Given the description of an element on the screen output the (x, y) to click on. 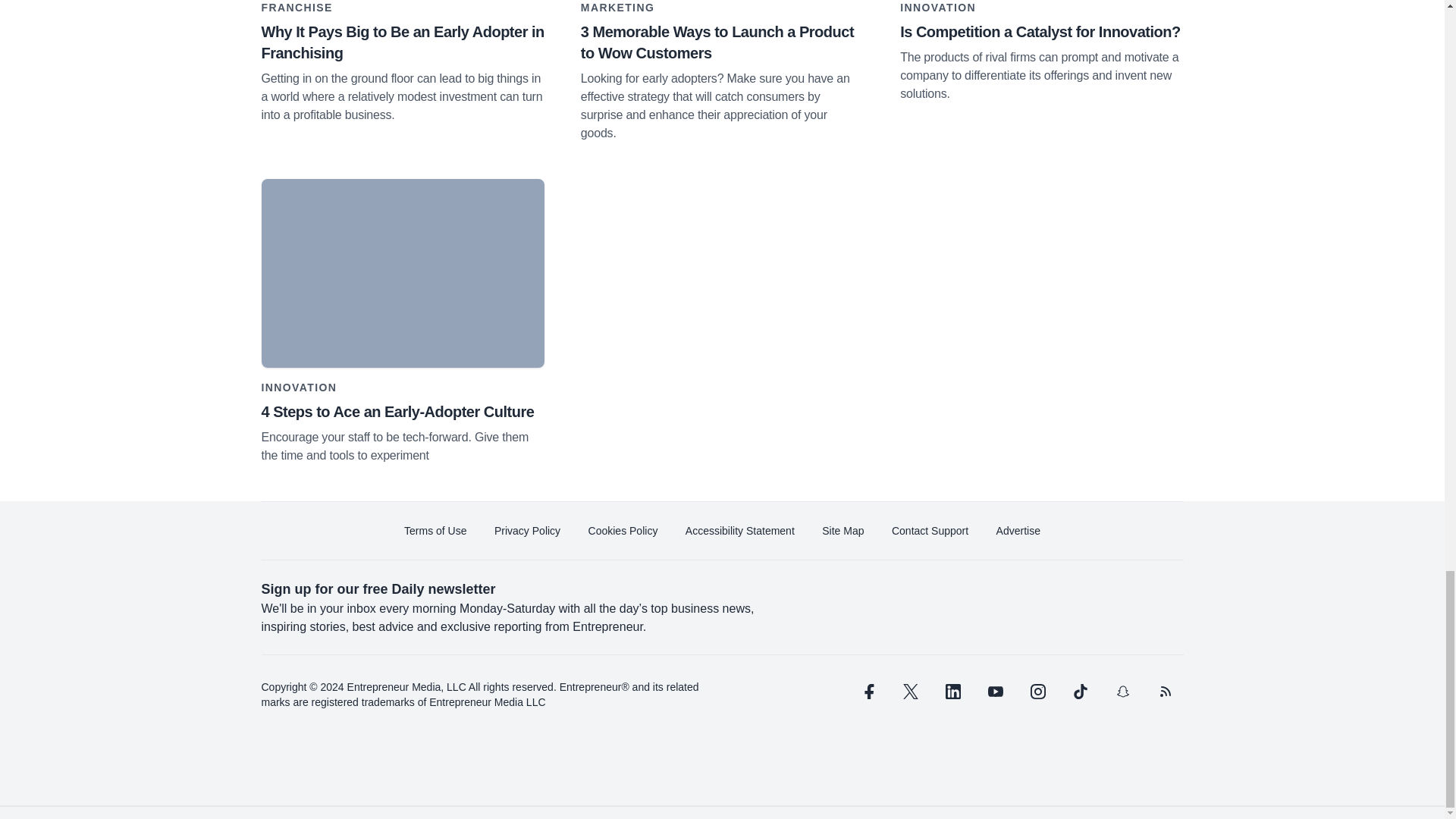
twitter (909, 691)
snapchat (1121, 691)
facebook (866, 691)
linkedin (952, 691)
rss (1164, 691)
instagram (1037, 691)
youtube (994, 691)
tiktok (1079, 691)
